Given the description of an element on the screen output the (x, y) to click on. 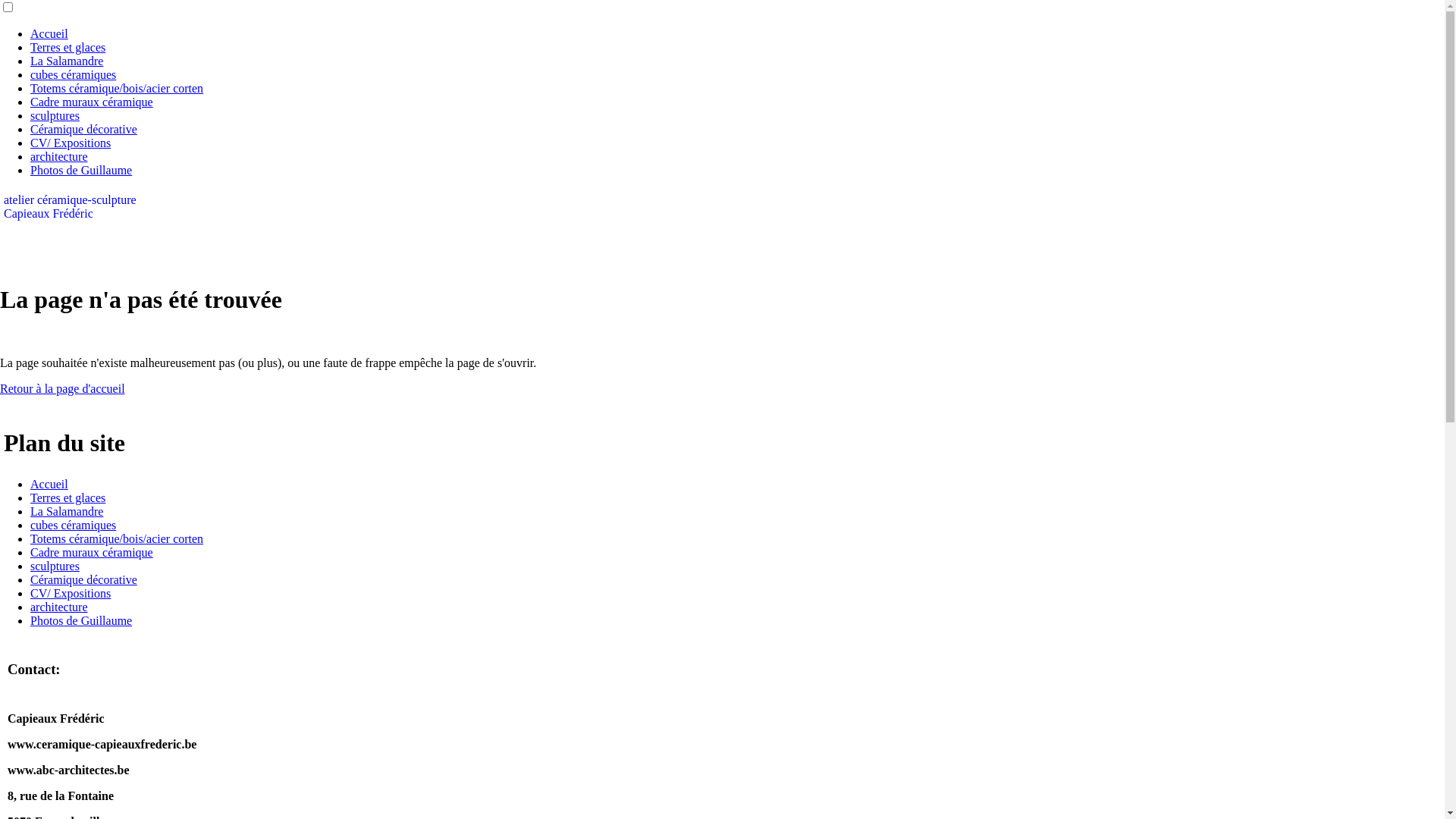
La Salamandre Element type: text (66, 60)
Accueil Element type: text (49, 483)
Terres et glaces Element type: text (67, 46)
CV/ Expositions Element type: text (70, 592)
Terres et glaces Element type: text (67, 497)
Photos de Guillaume Element type: text (80, 620)
sculptures Element type: text (54, 565)
Accueil Element type: text (49, 33)
Photos de Guillaume Element type: text (80, 169)
La Salamandre Element type: text (66, 511)
CV/ Expositions Element type: text (70, 142)
architecture Element type: text (58, 606)
architecture Element type: text (58, 156)
sculptures Element type: text (54, 115)
